Given the description of an element on the screen output the (x, y) to click on. 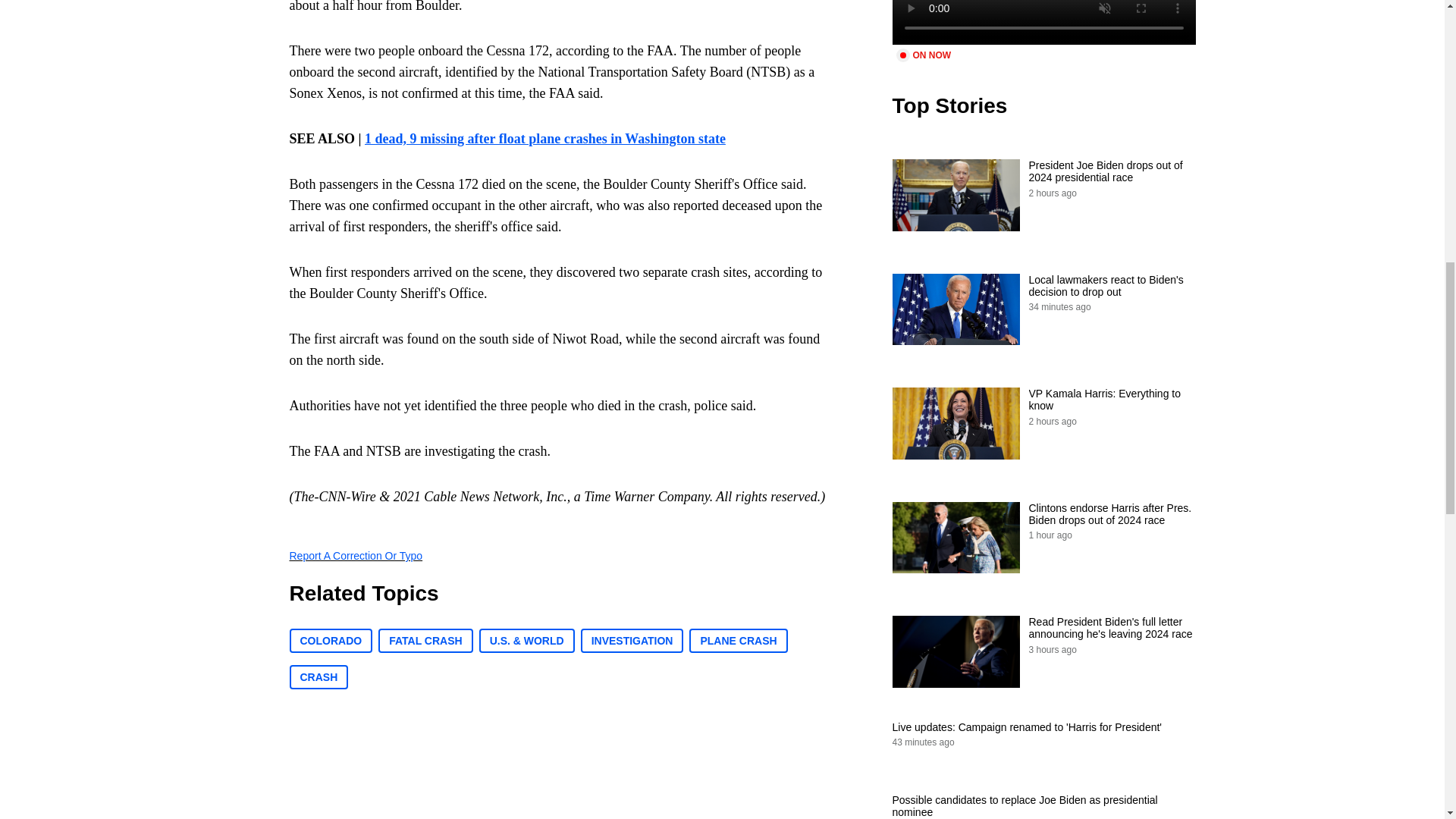
video.title (1043, 22)
